Given the description of an element on the screen output the (x, y) to click on. 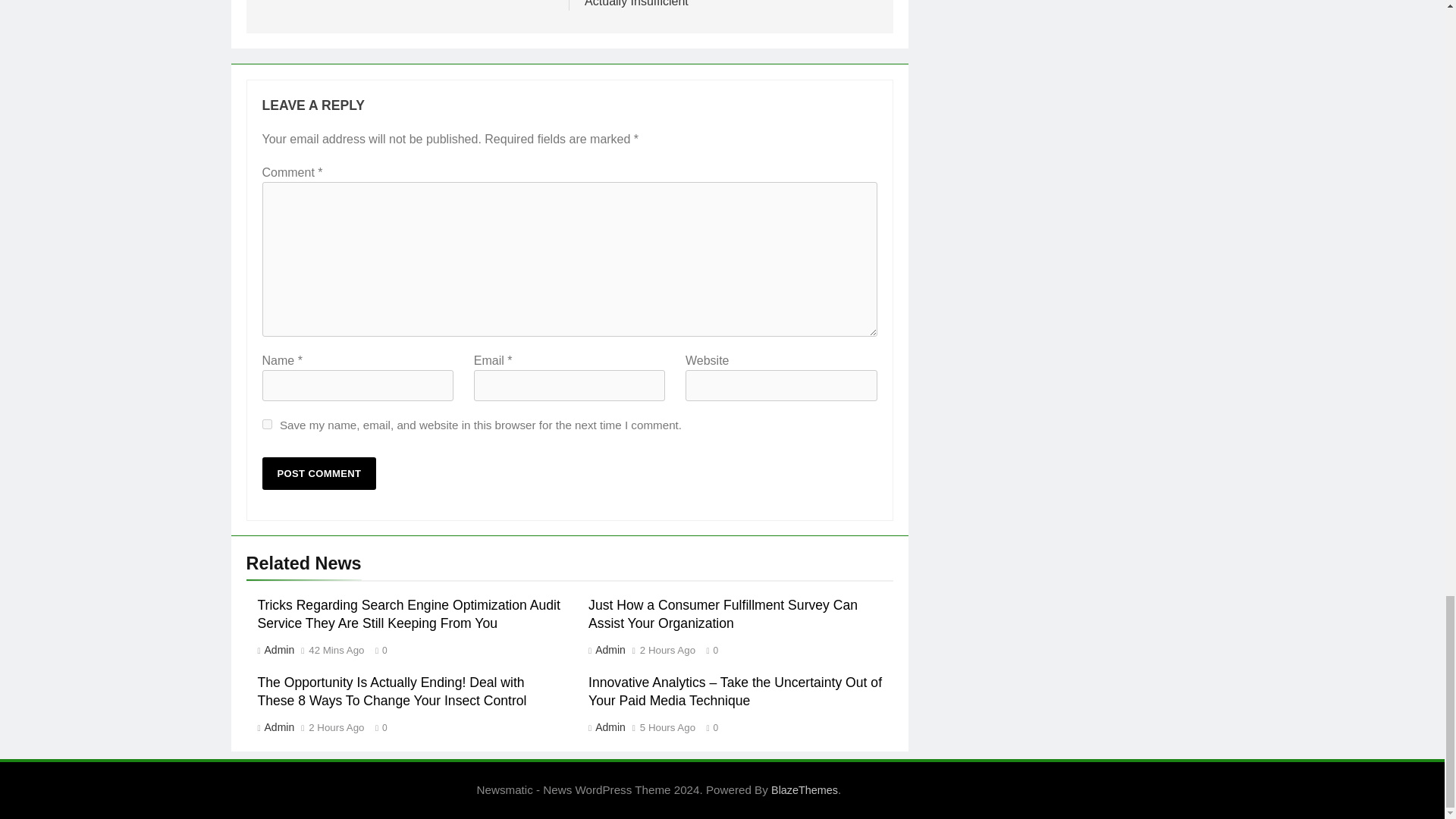
yes (267, 424)
Post Comment (319, 473)
